Given the description of an element on the screen output the (x, y) to click on. 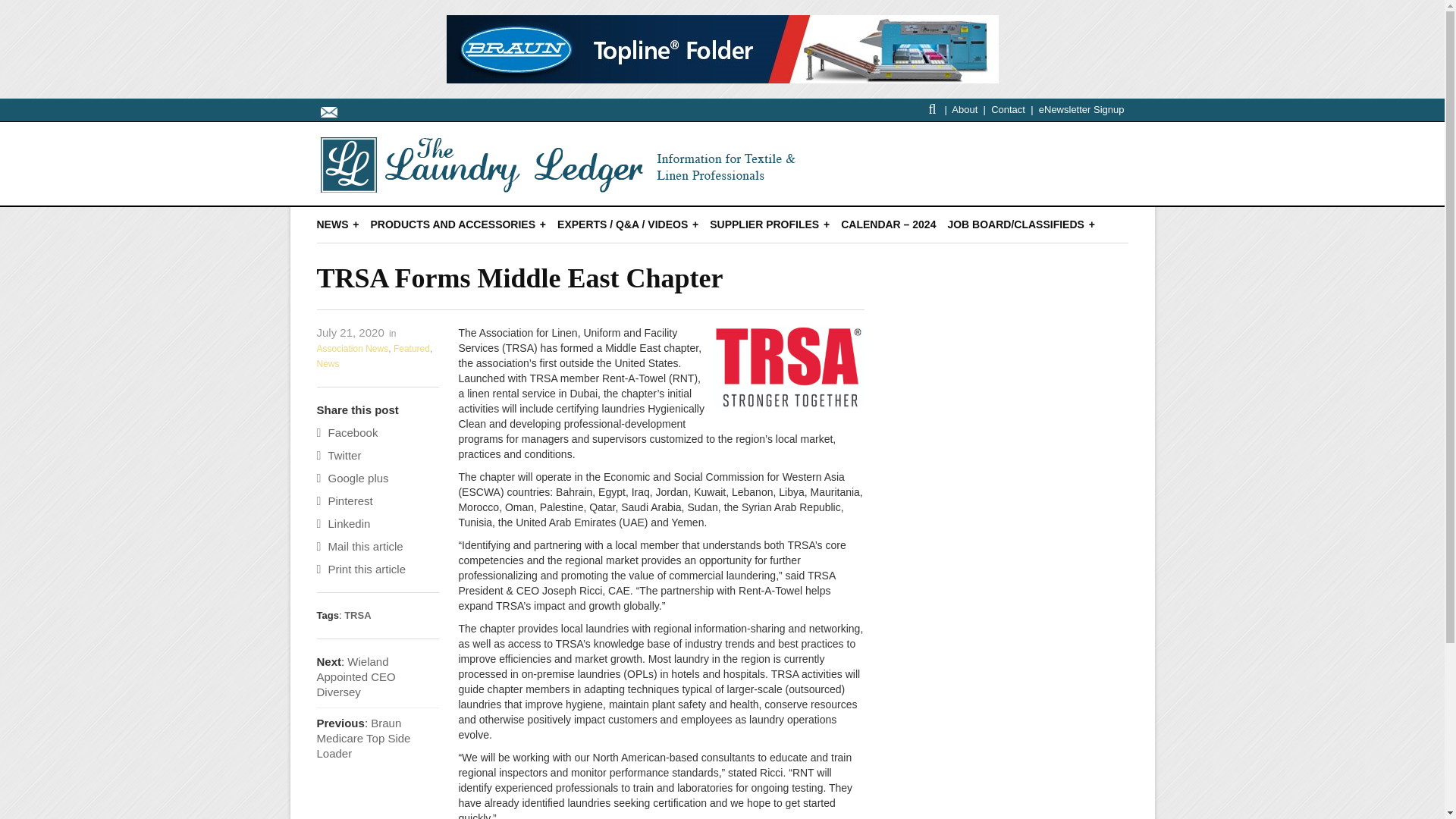
Search (932, 109)
eNewsletter Signup (1081, 109)
NEWS (338, 224)
Laundry Ledger (563, 184)
PRODUCTS AND ACCESSORIES (457, 224)
Contact (1008, 109)
TRSA Forms Middle East Chapter (520, 277)
About (964, 109)
